Given the description of an element on the screen output the (x, y) to click on. 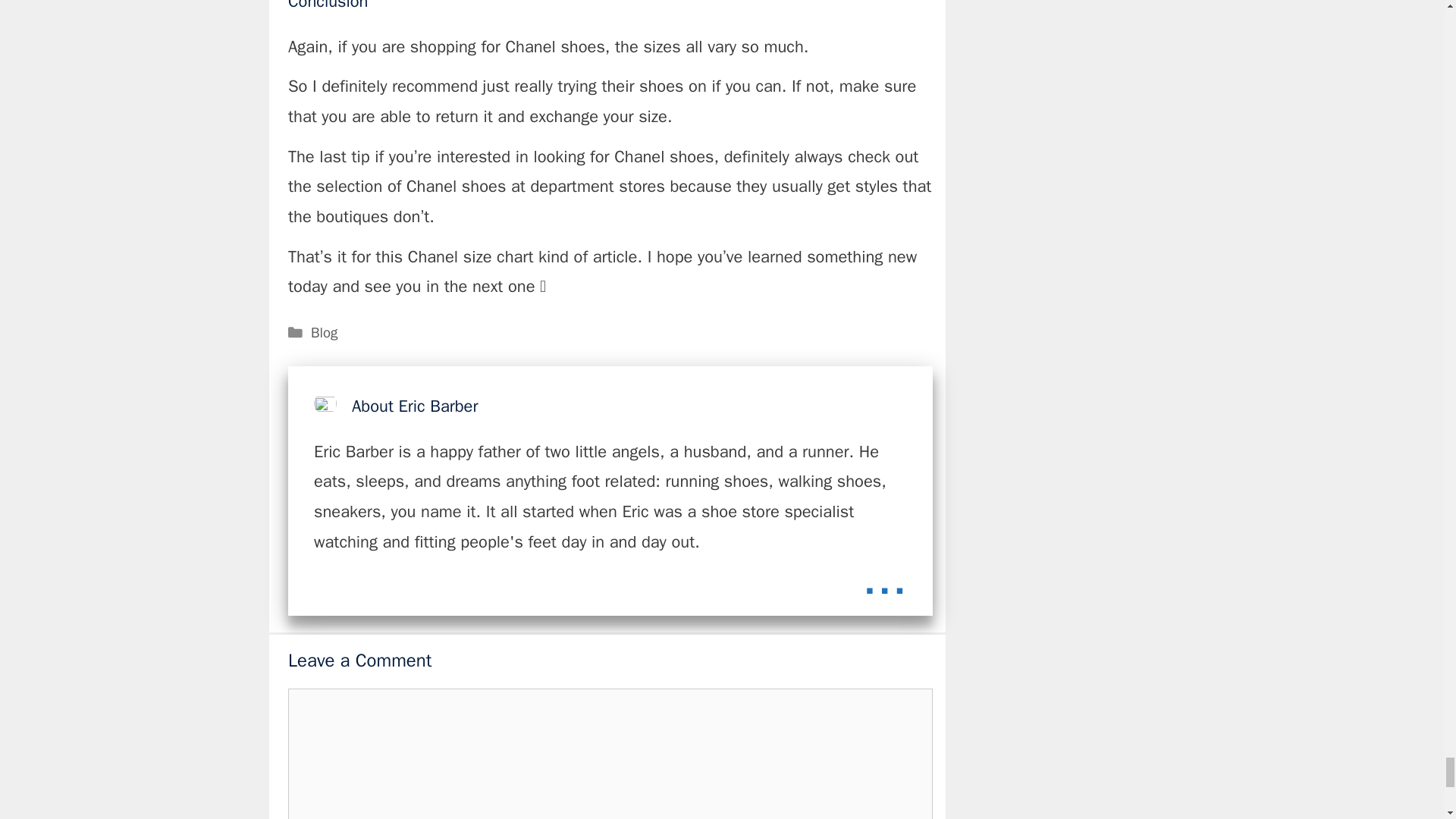
... (884, 577)
Blog (324, 332)
Read more (884, 577)
